Given the description of an element on the screen output the (x, y) to click on. 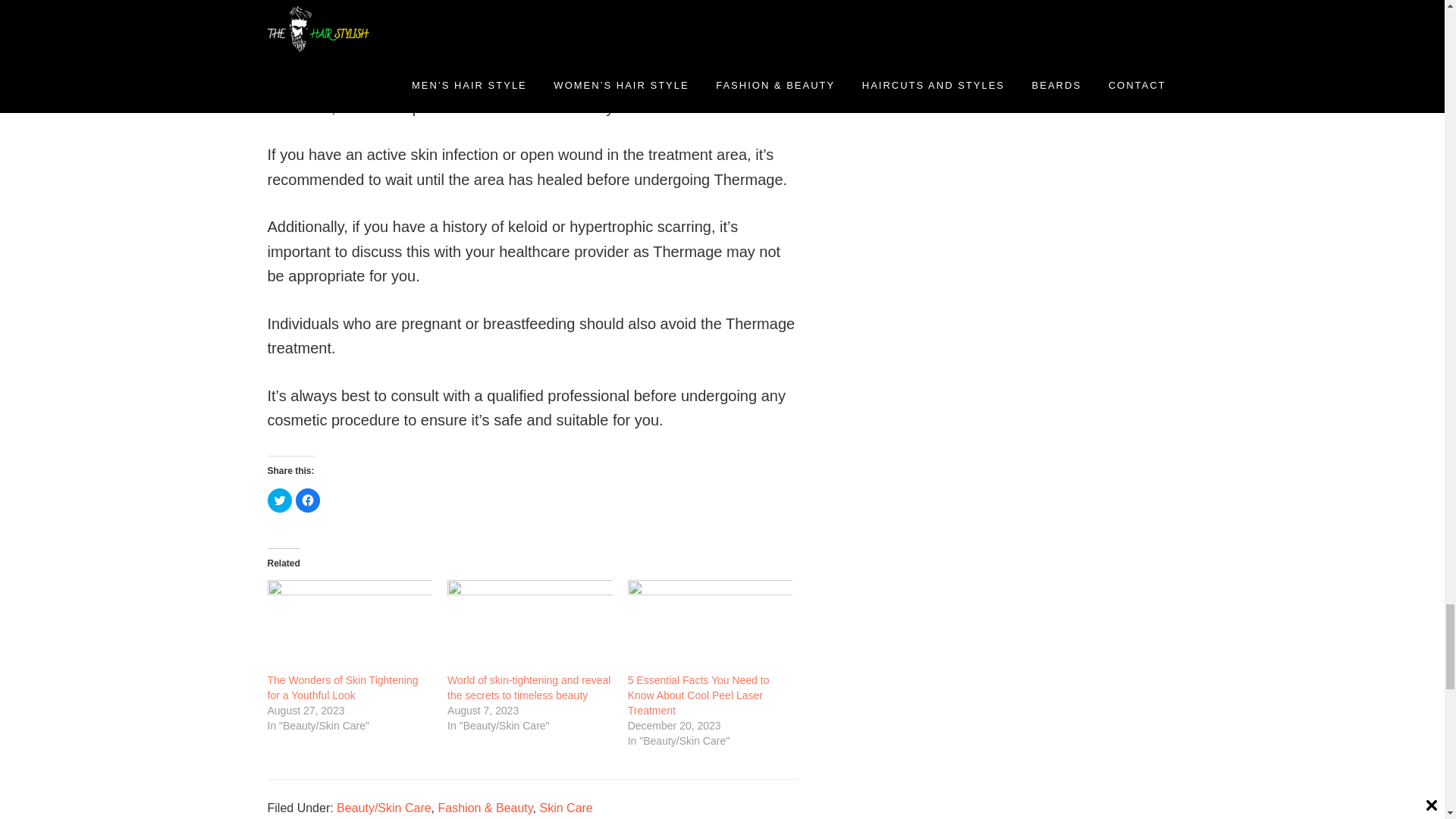
The Wonders of Skin Tightening for a Youthful Look (341, 687)
Click to share on Facebook (307, 500)
The Wonders of Skin Tightening for a Youthful Look (349, 624)
Click to share on Twitter (278, 500)
The Wonders of Skin Tightening for a Youthful Look (341, 687)
